Given the description of an element on the screen output the (x, y) to click on. 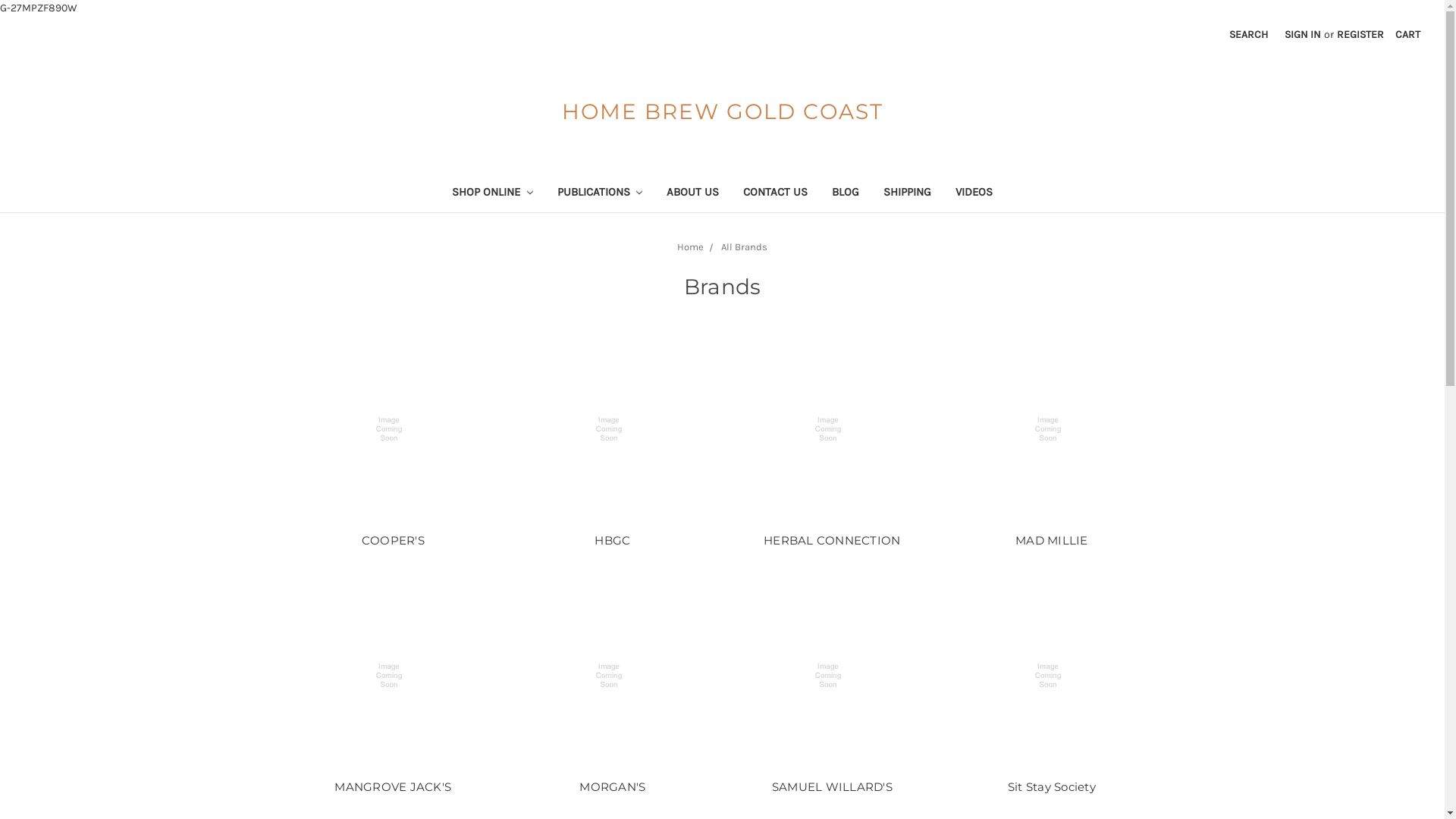
HERBAL CONNECTION Element type: hover (831, 429)
HBGC Element type: hover (612, 429)
HBGC Element type: text (612, 540)
COOPER'S Element type: hover (392, 429)
REGISTER Element type: text (1360, 34)
MANGROVE JACK'S Element type: text (392, 786)
SAMUEL WILLARD'S Element type: text (831, 786)
MAD MILLIE Element type: hover (1051, 429)
Home Element type: text (690, 246)
SHOP ONLINE Element type: text (492, 193)
VIDEOS Element type: text (973, 193)
MAD MILLIE Element type: text (1051, 540)
COOPER'S Element type: text (392, 540)
Sit Stay Society Element type: hover (1051, 675)
SHIPPING Element type: text (907, 193)
HERBAL CONNECTION Element type: text (831, 540)
MORGAN'S Element type: text (612, 786)
CART Element type: text (1407, 34)
MANGROVE JACK'S Element type: hover (392, 675)
CONTACT US Element type: text (775, 193)
SIGN IN Element type: text (1302, 34)
PUBLICATIONS Element type: text (599, 193)
ABOUT US Element type: text (692, 193)
MORGAN'S Element type: hover (612, 675)
SEARCH Element type: text (1248, 34)
BLOG Element type: text (845, 193)
Sit Stay Society Element type: text (1051, 786)
SAMUEL WILLARD'S Element type: hover (831, 675)
